Given the description of an element on the screen output the (x, y) to click on. 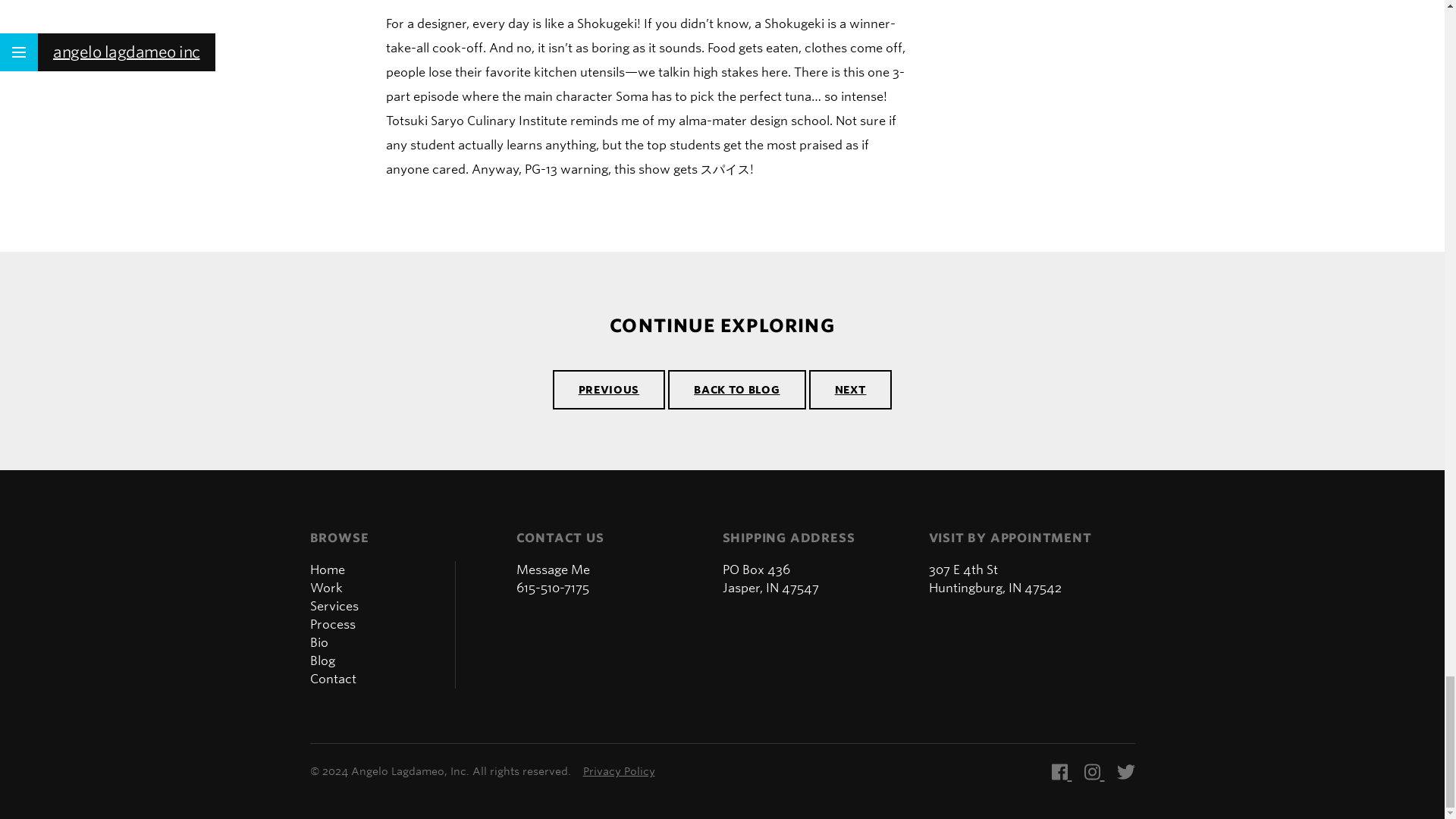
Contact (331, 679)
Bio (317, 642)
Message Me (552, 570)
Blog (321, 661)
615-510-7175 (551, 588)
BACK TO BLOG (736, 389)
PREVIOUS (609, 389)
Home (325, 570)
Privacy Policy (617, 771)
Work (325, 588)
Process (331, 624)
NEXT (850, 389)
Services (333, 606)
